Given the description of an element on the screen output the (x, y) to click on. 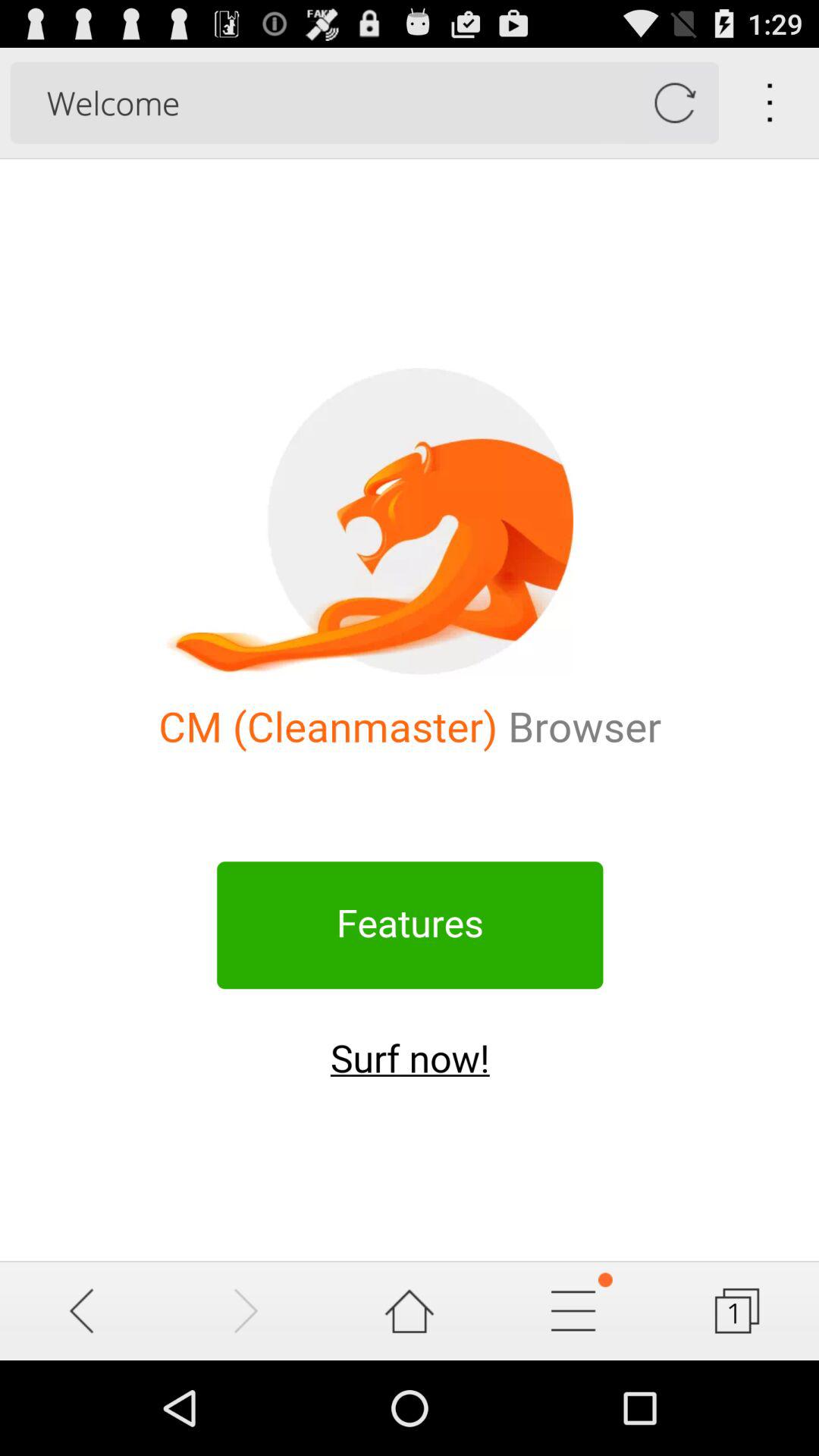
go to previous web page (81, 1310)
